Given the description of an element on the screen output the (x, y) to click on. 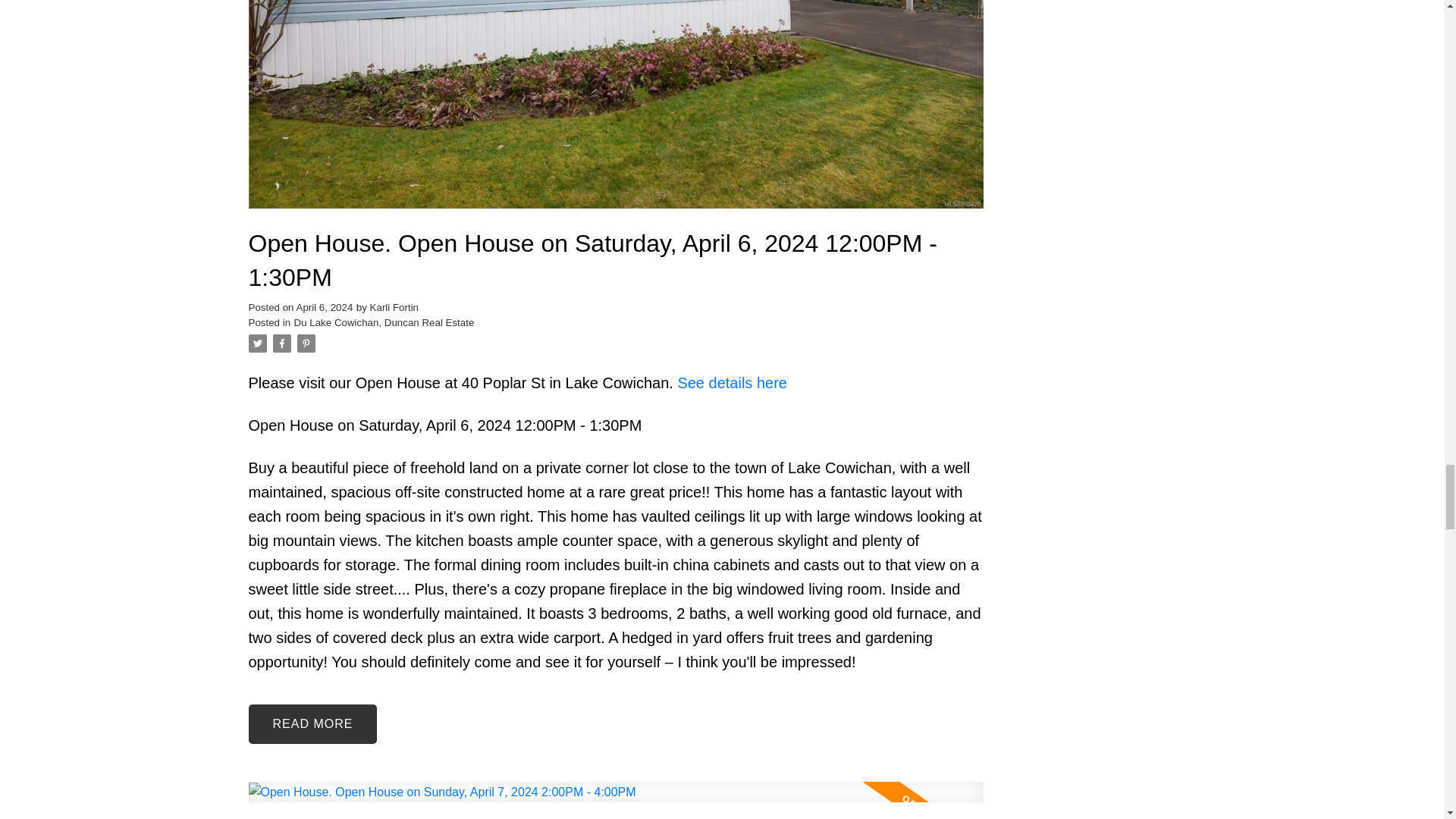
Read full post (616, 800)
